Given the description of an element on the screen output the (x, y) to click on. 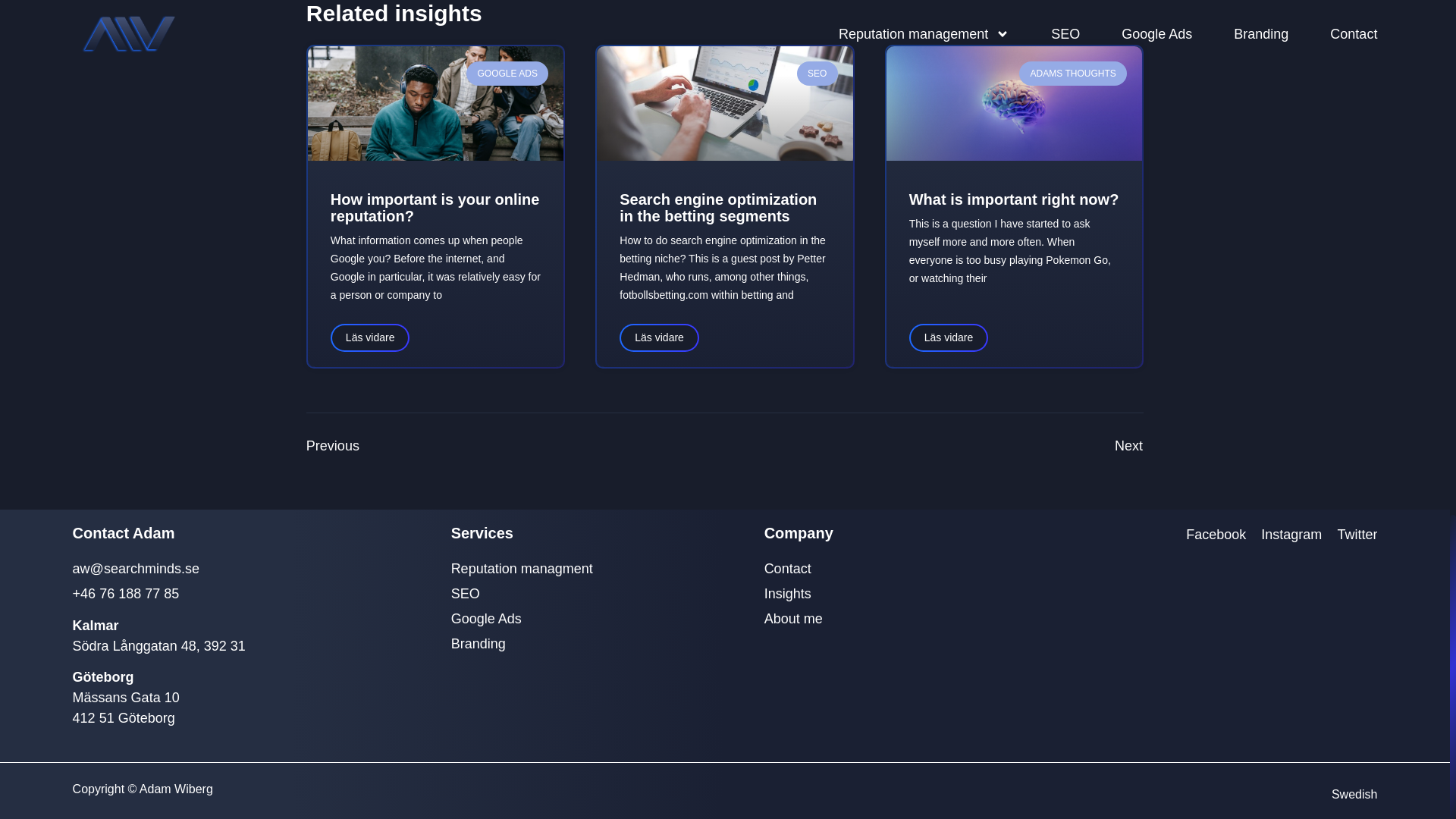
How important is your online reputation? (435, 207)
